Given the description of an element on the screen output the (x, y) to click on. 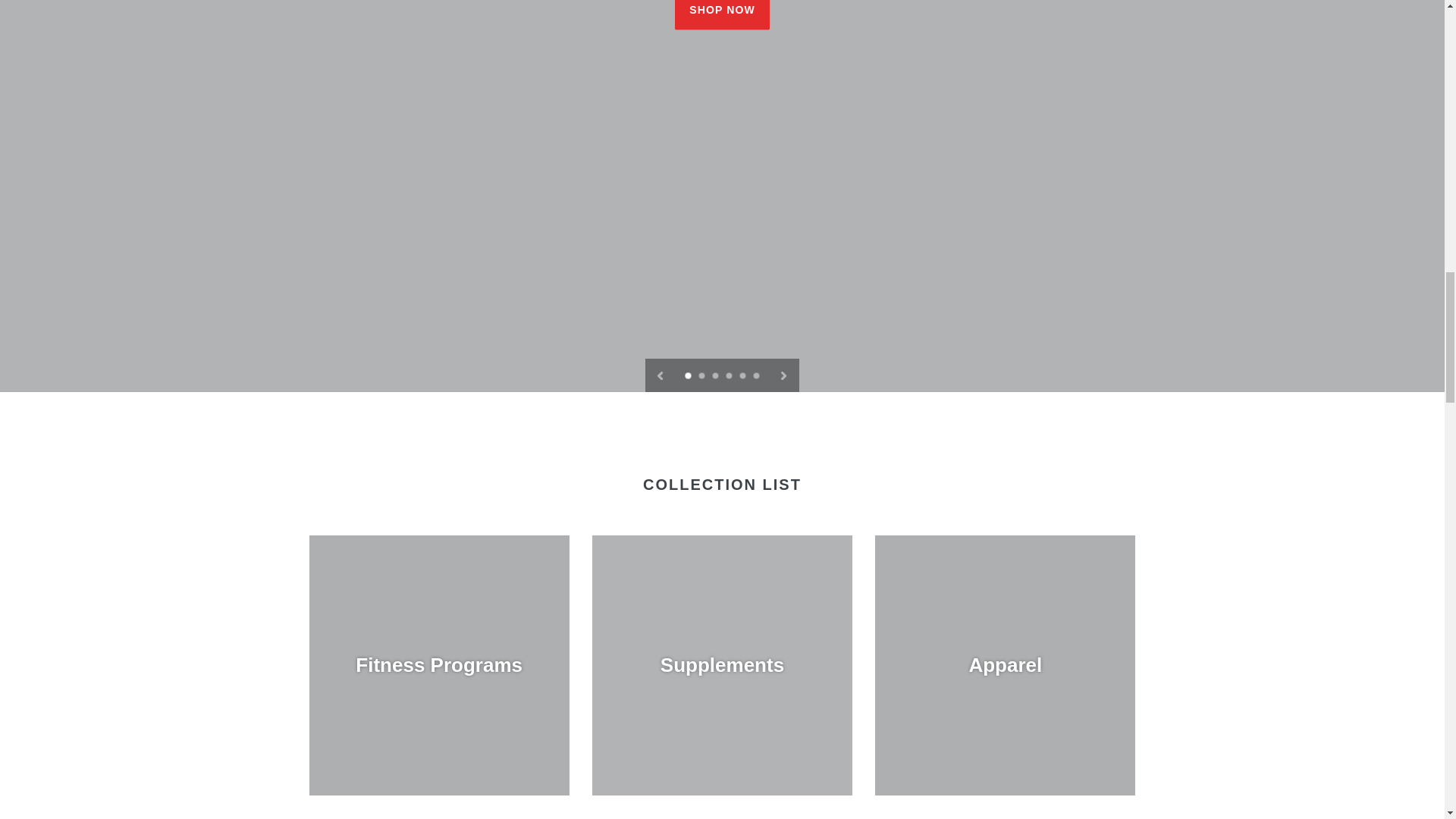
SHOP NOW (722, 15)
